Given the description of an element on the screen output the (x, y) to click on. 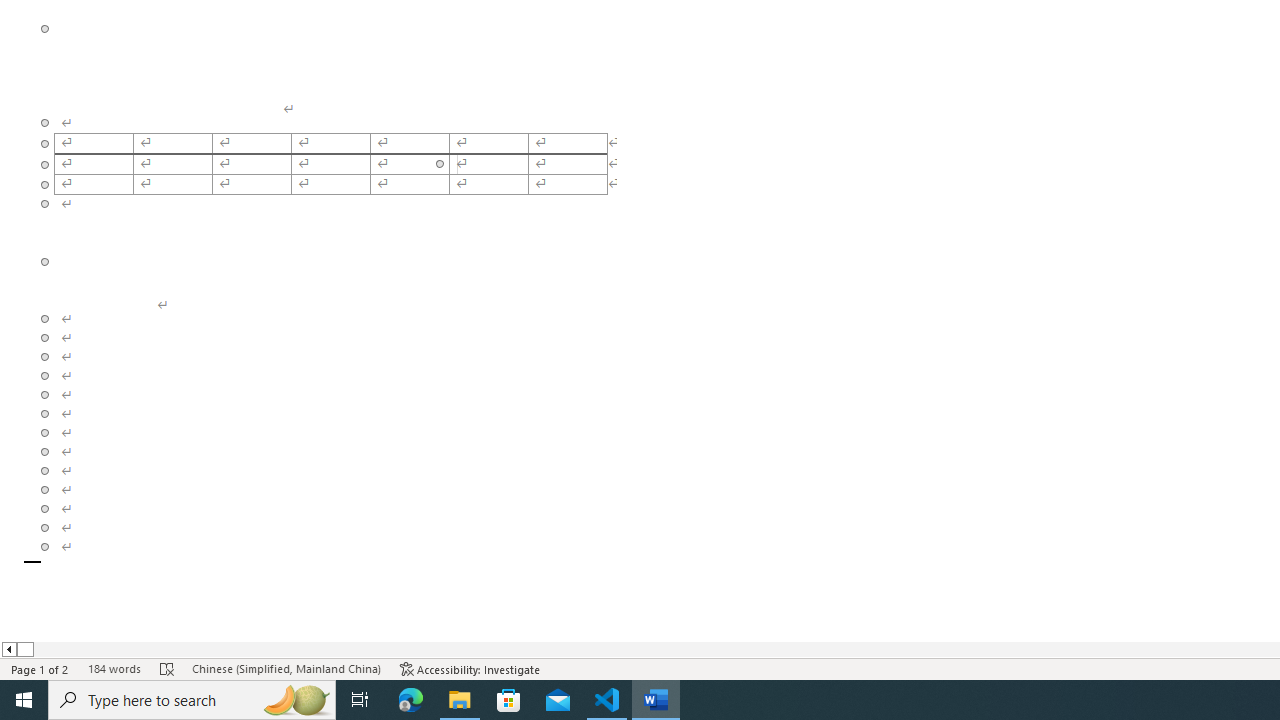
Column left (8, 649)
Word Count 184 words (113, 668)
Page Number Page 1 of 2 (39, 668)
